Given the description of an element on the screen output the (x, y) to click on. 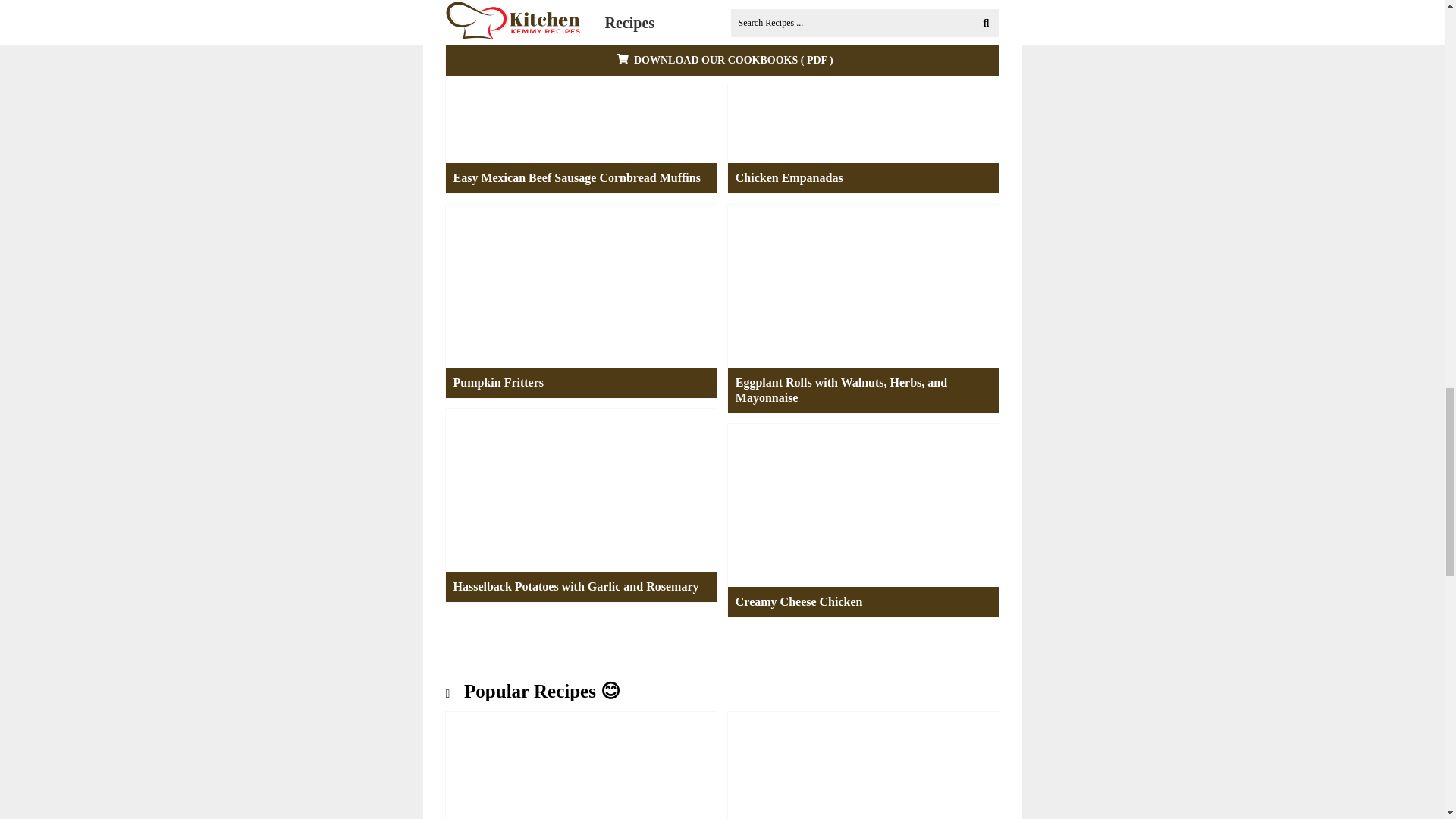
Chicken Empanadas (789, 177)
Creamy Cheese Chicken (799, 602)
Eggplant Rolls with Walnuts, Herbs, and Mayonnaise 9 (863, 285)
Easy Mexican Beef Sausage Cornbread Muffins (576, 177)
Hasselback Potatoes with Garlic and Rosemary (575, 586)
Super creamy lemon pound cake 13 (863, 765)
Eggplant Rolls with Walnuts, Herbs, and Mayonnaise (863, 398)
Pumpkin Fritters 8 (580, 285)
Easy Mexican Beef Sausage Cornbread Muffins 6 (580, 81)
Chicken Empanadas 7 (863, 81)
Pumpkin Fritters (498, 382)
Hasselback Potatoes with Garlic and Rosemary 10 (580, 489)
Jam soft bun 12 (580, 765)
Creamy Cheese Chicken 11 (863, 505)
